Given the description of an element on the screen output the (x, y) to click on. 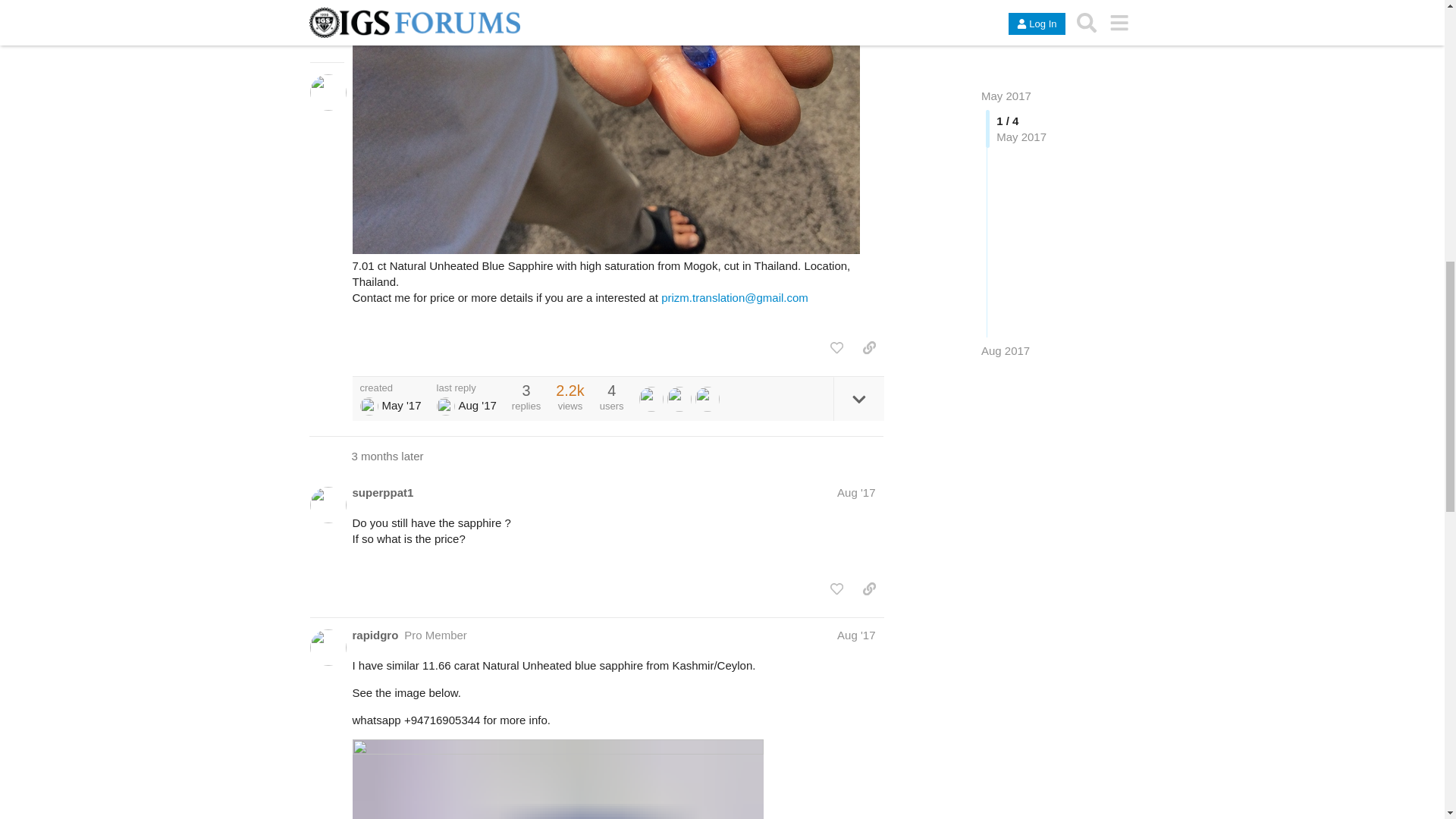
Aug 13, 2017 7:18 pm (477, 404)
last reply (466, 388)
superppat1 (382, 492)
Tobias H (445, 406)
May 16, 2017 8:38 pm (400, 404)
expand topic details (857, 398)
Aug '17 (856, 492)
copy a link to this post to clipboard (869, 347)
like this post (836, 347)
